Given the description of an element on the screen output the (x, y) to click on. 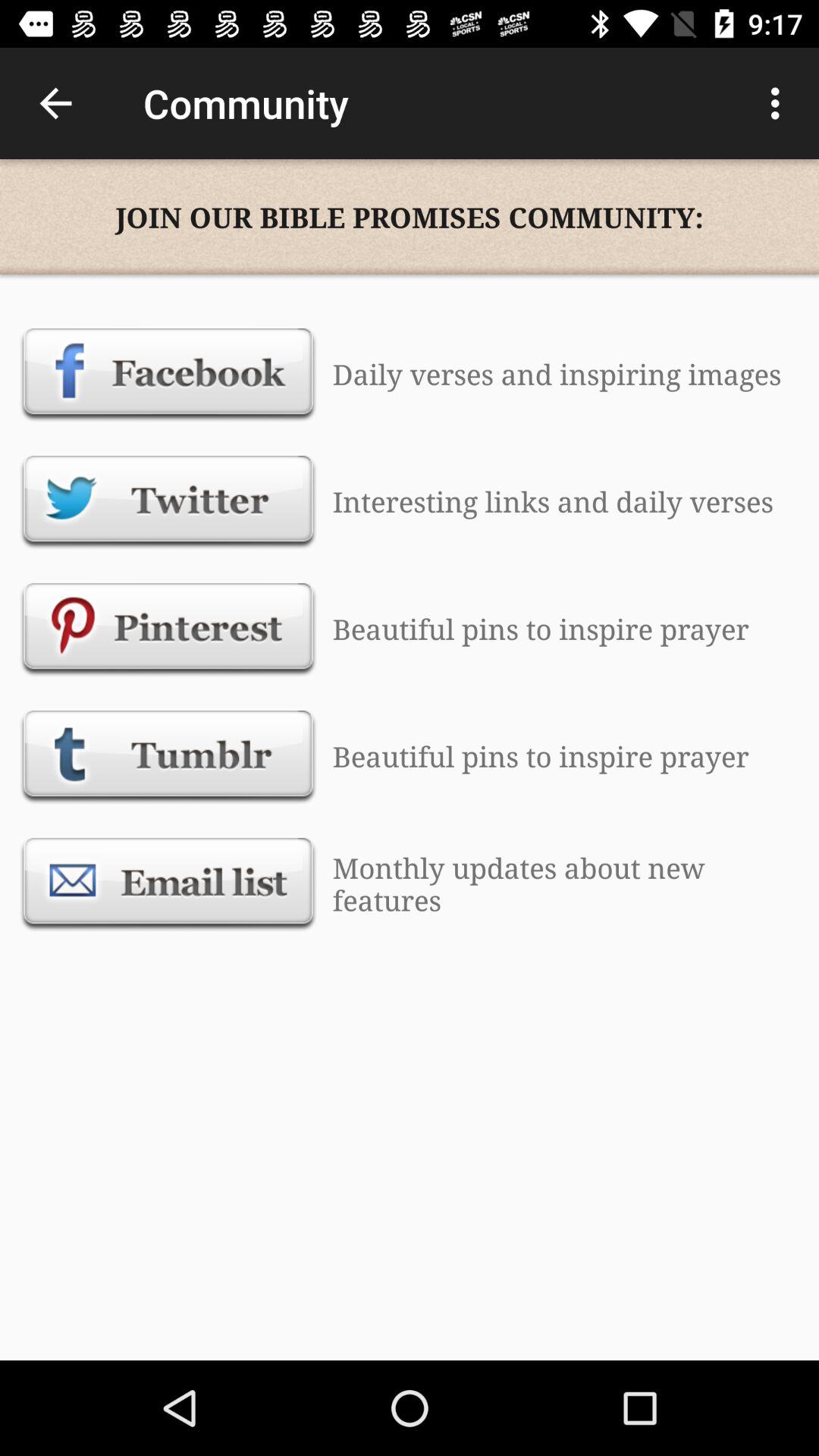
press icon to the right of the community icon (779, 103)
